Given the description of an element on the screen output the (x, y) to click on. 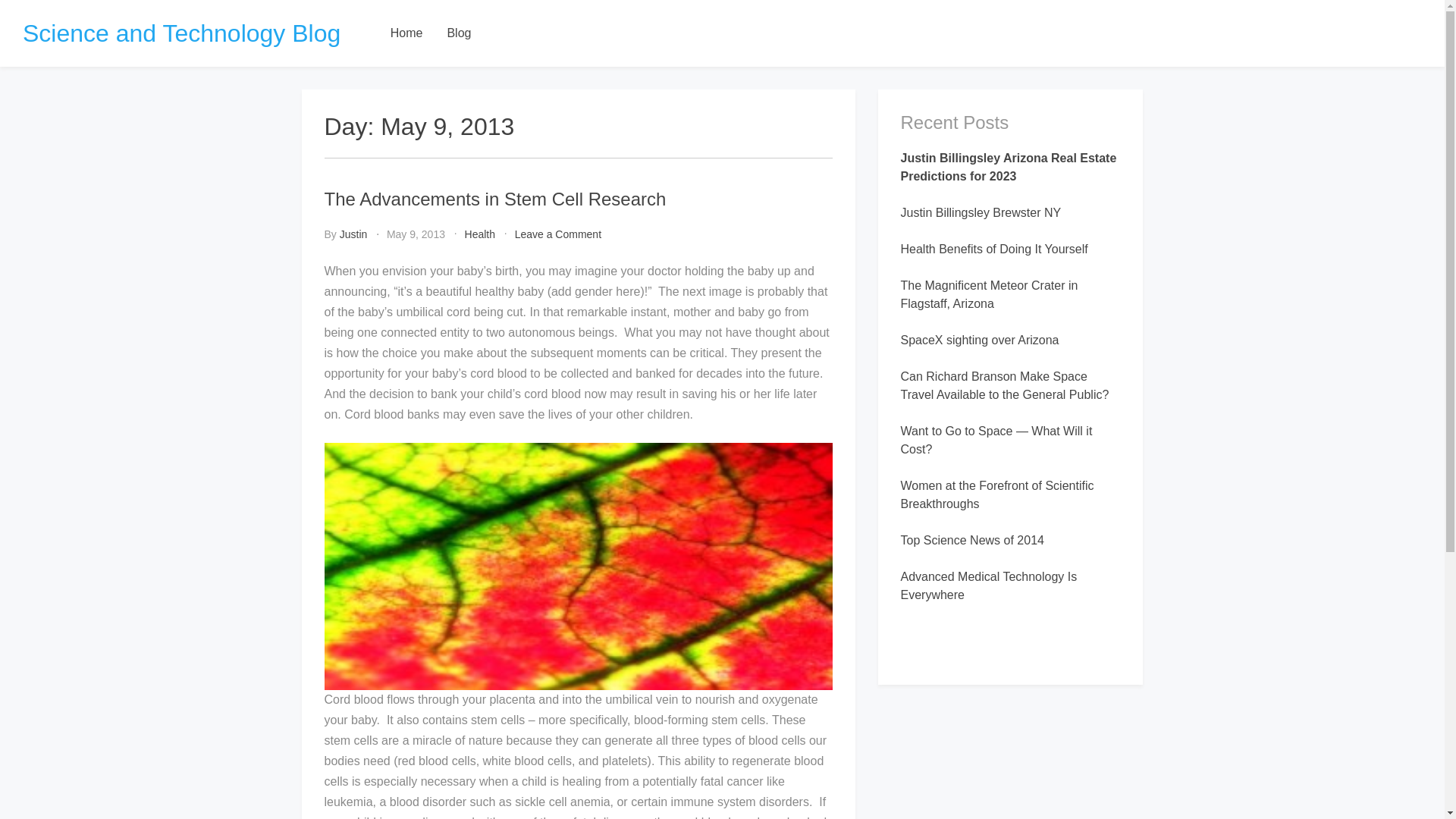
Women at the Forefront of Scientific Breakthroughs (997, 494)
Home (558, 234)
May 9, 2013 (406, 33)
Science and Technology Blog (416, 234)
Blog (181, 32)
Advanced Medical Technology Is Everywhere (458, 33)
Top Science News of 2014 (989, 585)
Justin Billingsley Arizona Real Estate Predictions for 2023 (972, 540)
